Given the description of an element on the screen output the (x, y) to click on. 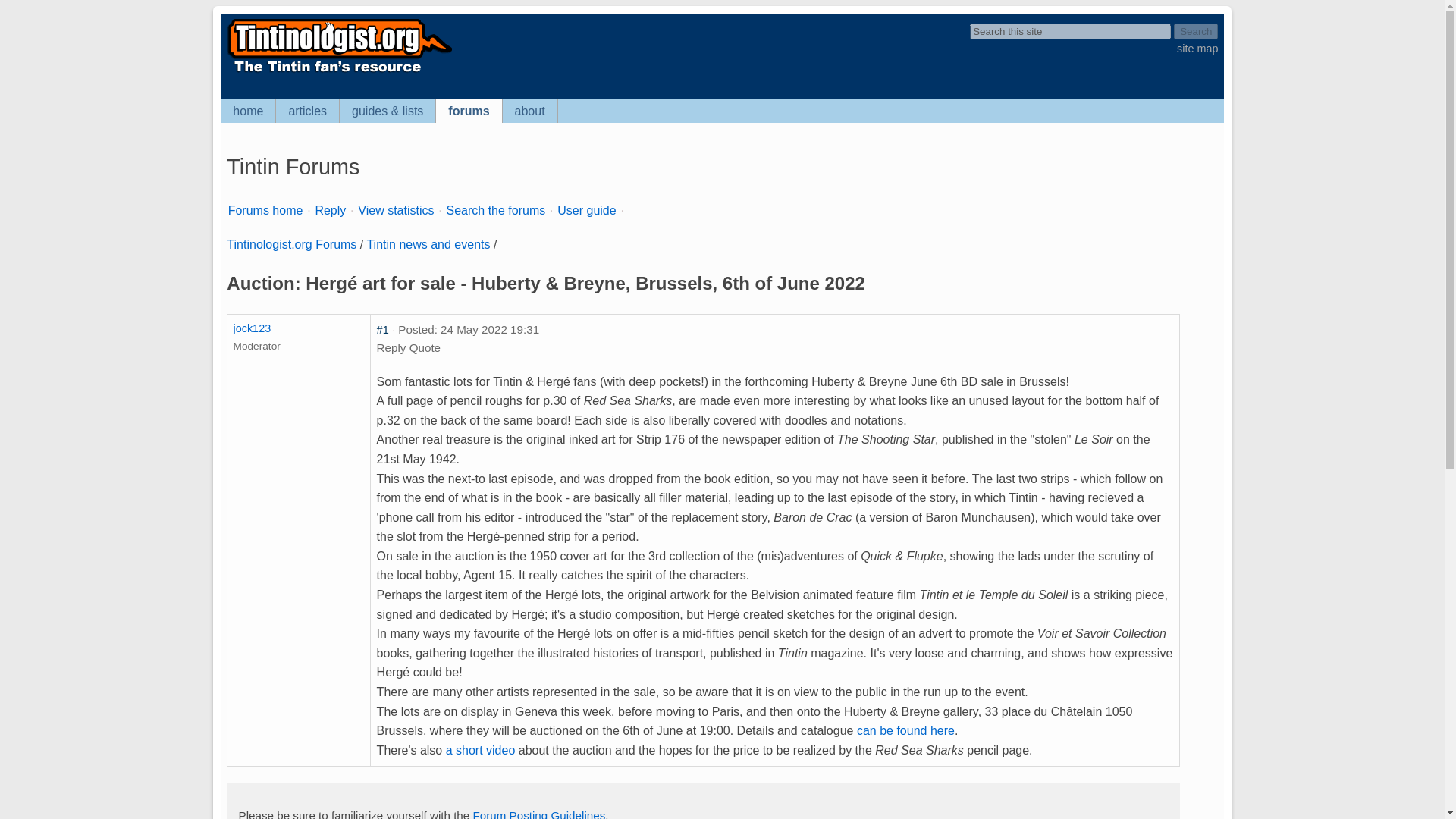
Forums home (264, 210)
Tintinologist.org: Tintin fan's resource (337, 70)
can be found here (906, 730)
Tintin news and events (427, 244)
jock123 (251, 328)
View statistics (395, 210)
Quote (425, 347)
home (248, 110)
Reply (330, 210)
Search this site (1069, 31)
Forum Posting Guidelines (539, 814)
site map (1196, 48)
a short video (480, 749)
articles (307, 110)
User guide (586, 210)
